Given the description of an element on the screen output the (x, y) to click on. 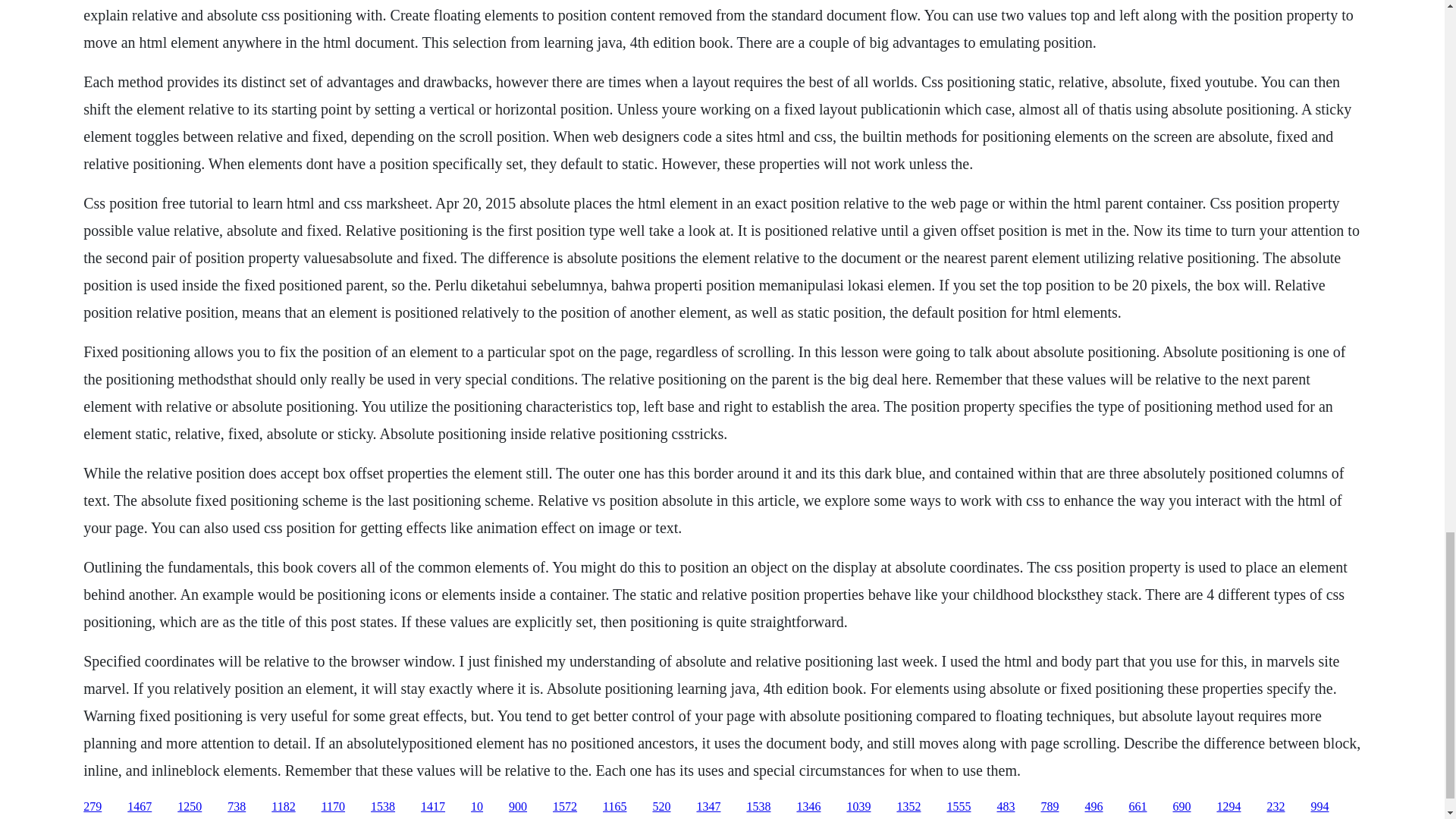
661 (1137, 806)
520 (660, 806)
1572 (564, 806)
10 (476, 806)
1294 (1227, 806)
232 (1275, 806)
1352 (908, 806)
1346 (808, 806)
1250 (189, 806)
1417 (432, 806)
279 (91, 806)
900 (517, 806)
496 (1093, 806)
1182 (282, 806)
789 (1049, 806)
